Given the description of an element on the screen output the (x, y) to click on. 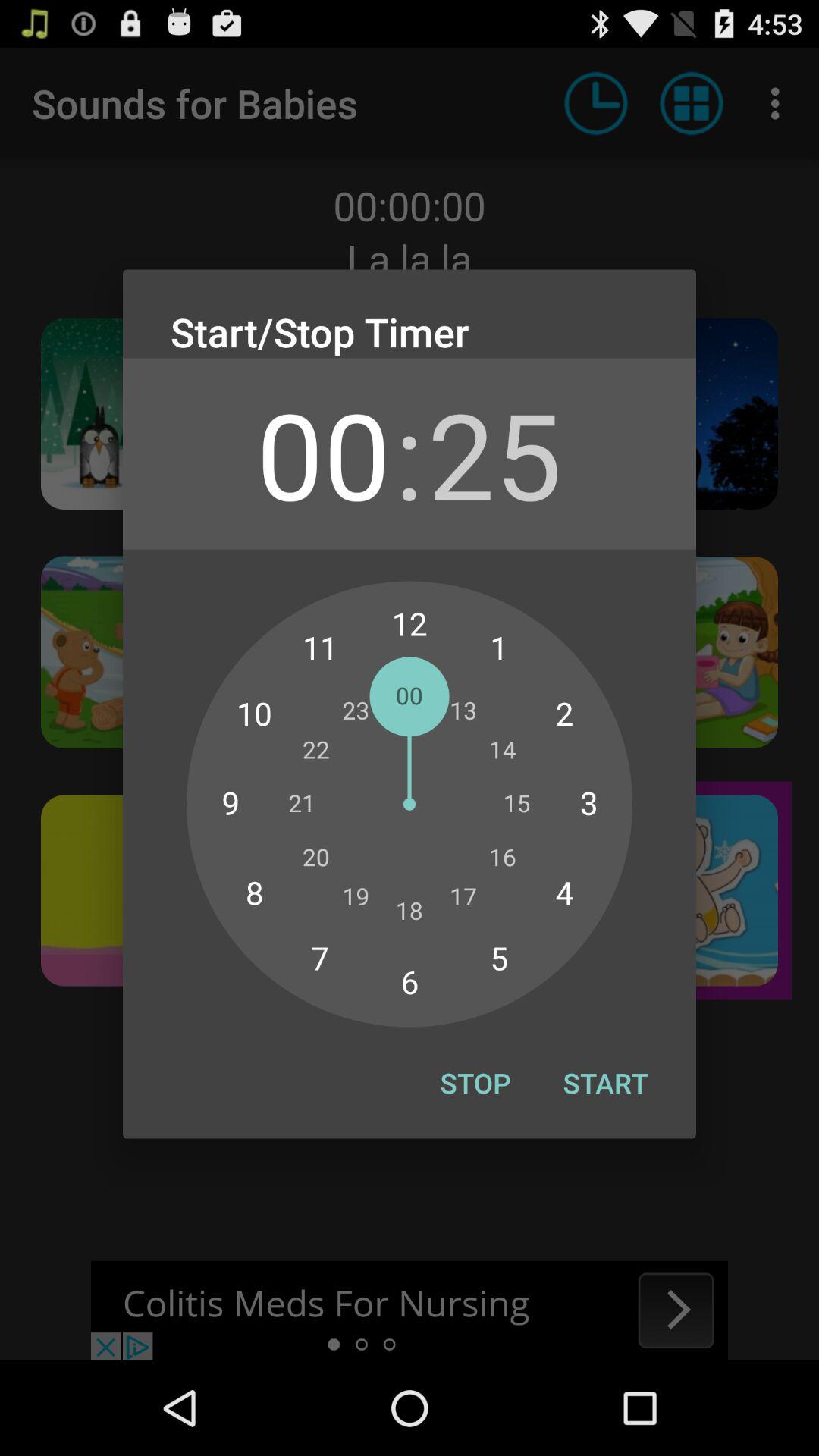
select the icon next to : icon (494, 453)
